Given the description of an element on the screen output the (x, y) to click on. 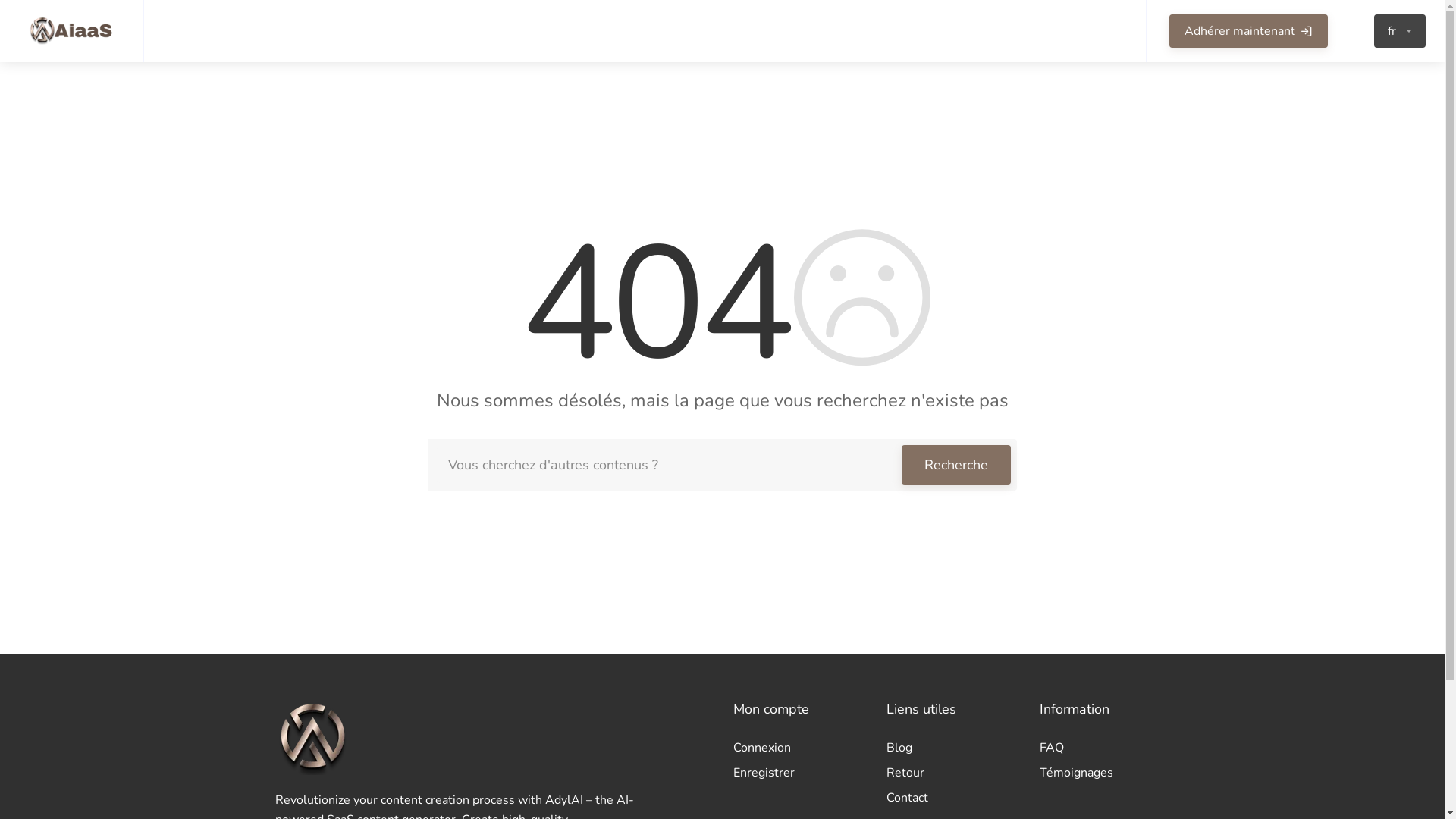
Blog Element type: text (951, 749)
Retour Element type: text (951, 772)
Connexion Element type: text (798, 749)
Recherche Element type: text (955, 464)
fr
  Element type: text (1399, 30)
FAQ Element type: text (1104, 749)
Contact Element type: text (951, 796)
Enregistrer Element type: text (798, 771)
